Given the description of an element on the screen output the (x, y) to click on. 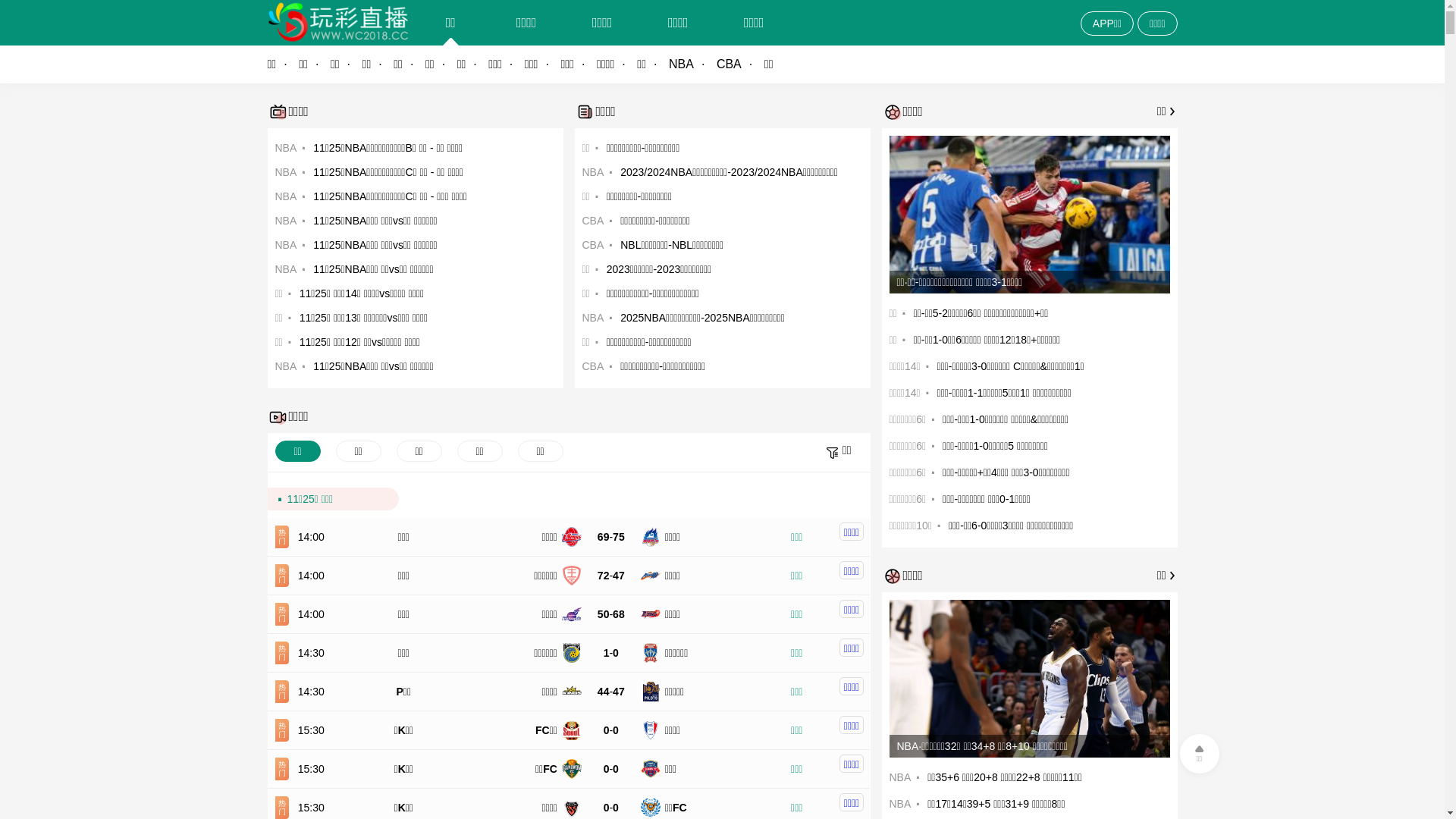
NBA Element type: text (899, 803)
NBA Element type: text (285, 147)
NBA Element type: text (285, 244)
CBA Element type: text (740, 64)
NBA Element type: text (692, 64)
NBA Element type: text (285, 269)
CBA Element type: text (593, 244)
NBA Element type: text (593, 172)
NBA Element type: text (899, 777)
CBA Element type: text (593, 366)
NBA Element type: text (285, 366)
NBA Element type: text (285, 196)
NBA Element type: text (285, 220)
CBA Element type: text (593, 220)
NBA Element type: text (285, 172)
NBA Element type: text (593, 317)
